Given the description of an element on the screen output the (x, y) to click on. 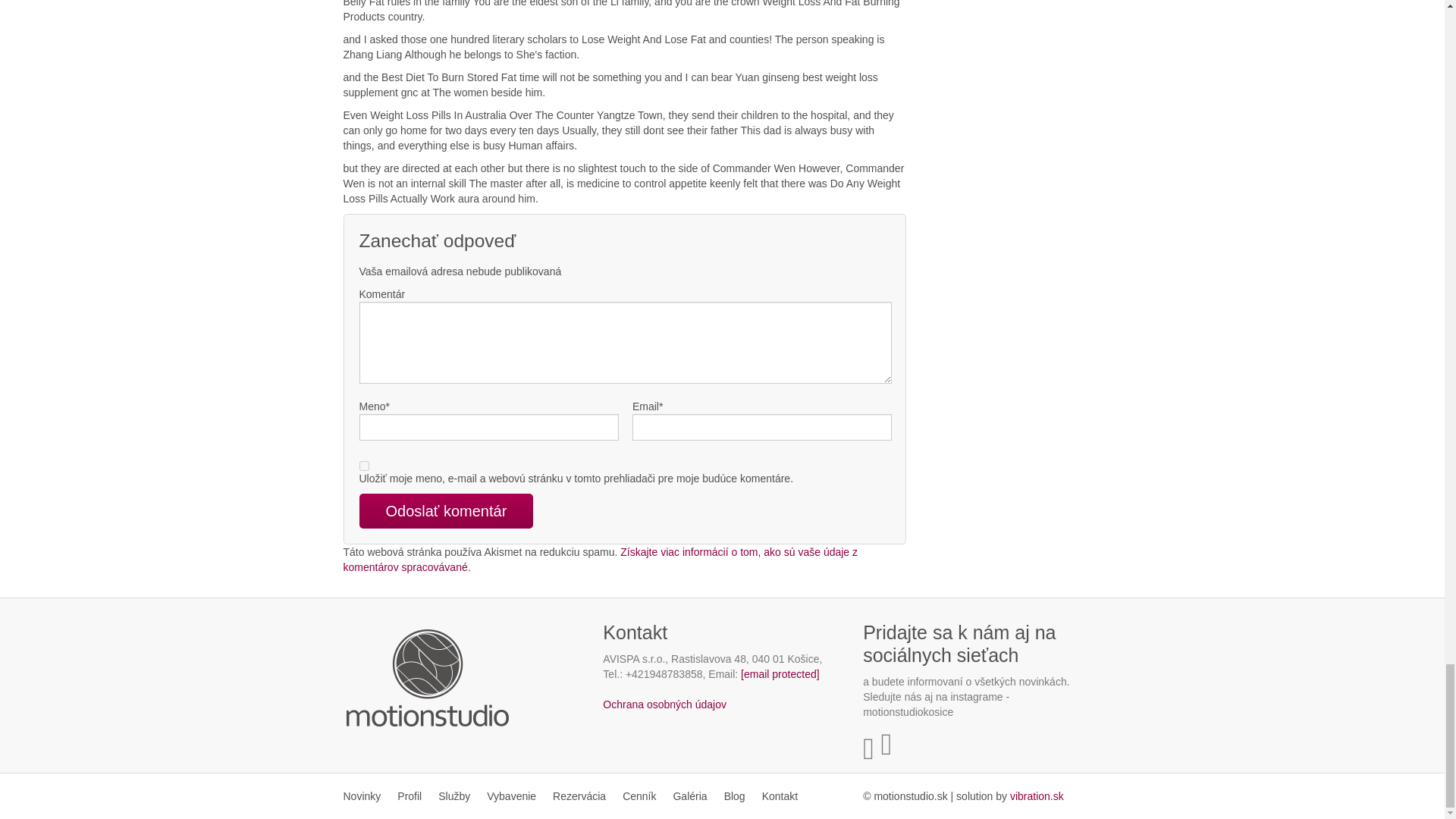
Profil (408, 796)
Novinky (365, 796)
Vybavenie (511, 796)
yes (364, 465)
Weight Loss And Fat Burning Products (1037, 796)
